Given the description of an element on the screen output the (x, y) to click on. 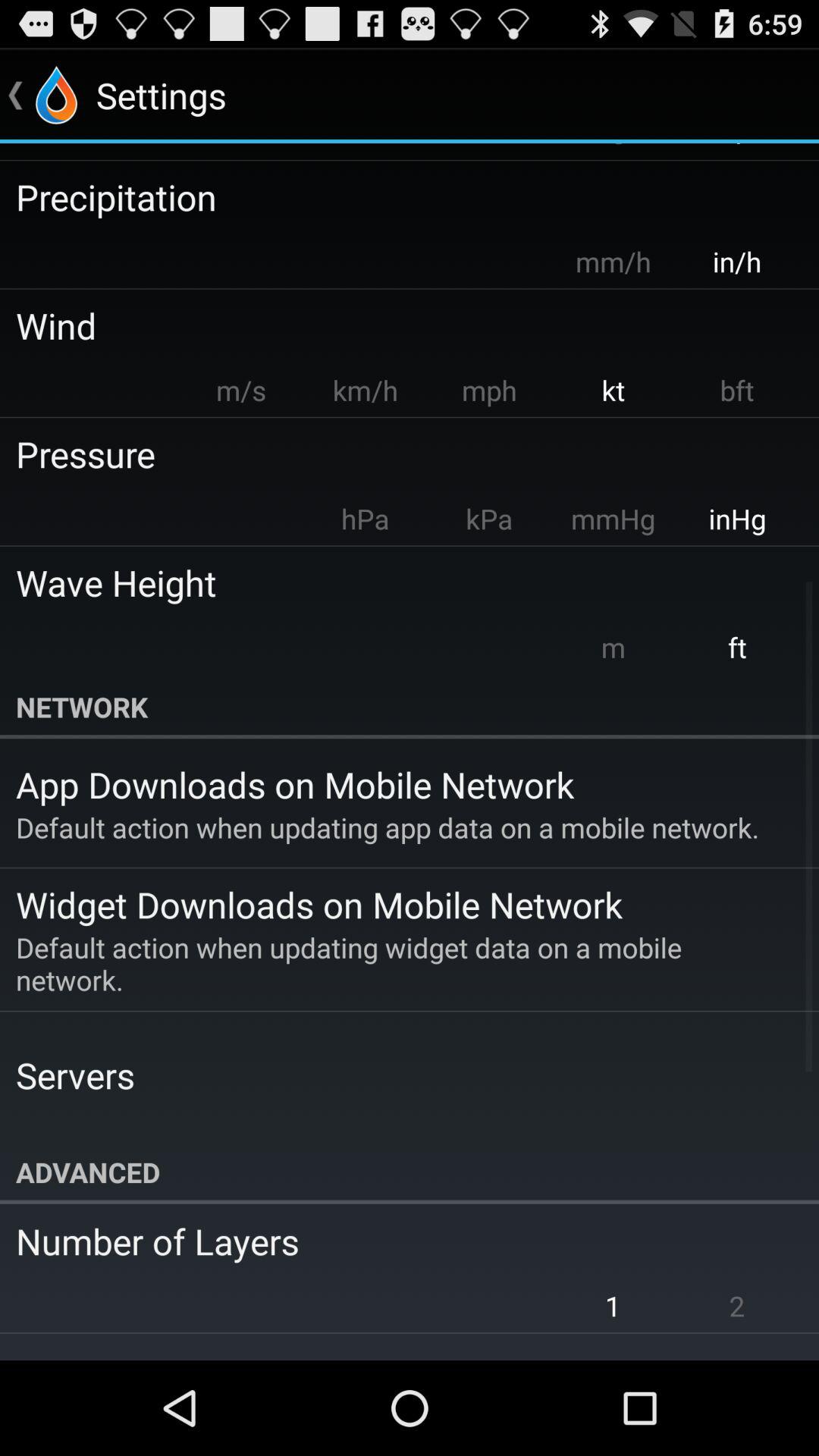
tap the 1 app (613, 1305)
